Given the description of an element on the screen output the (x, y) to click on. 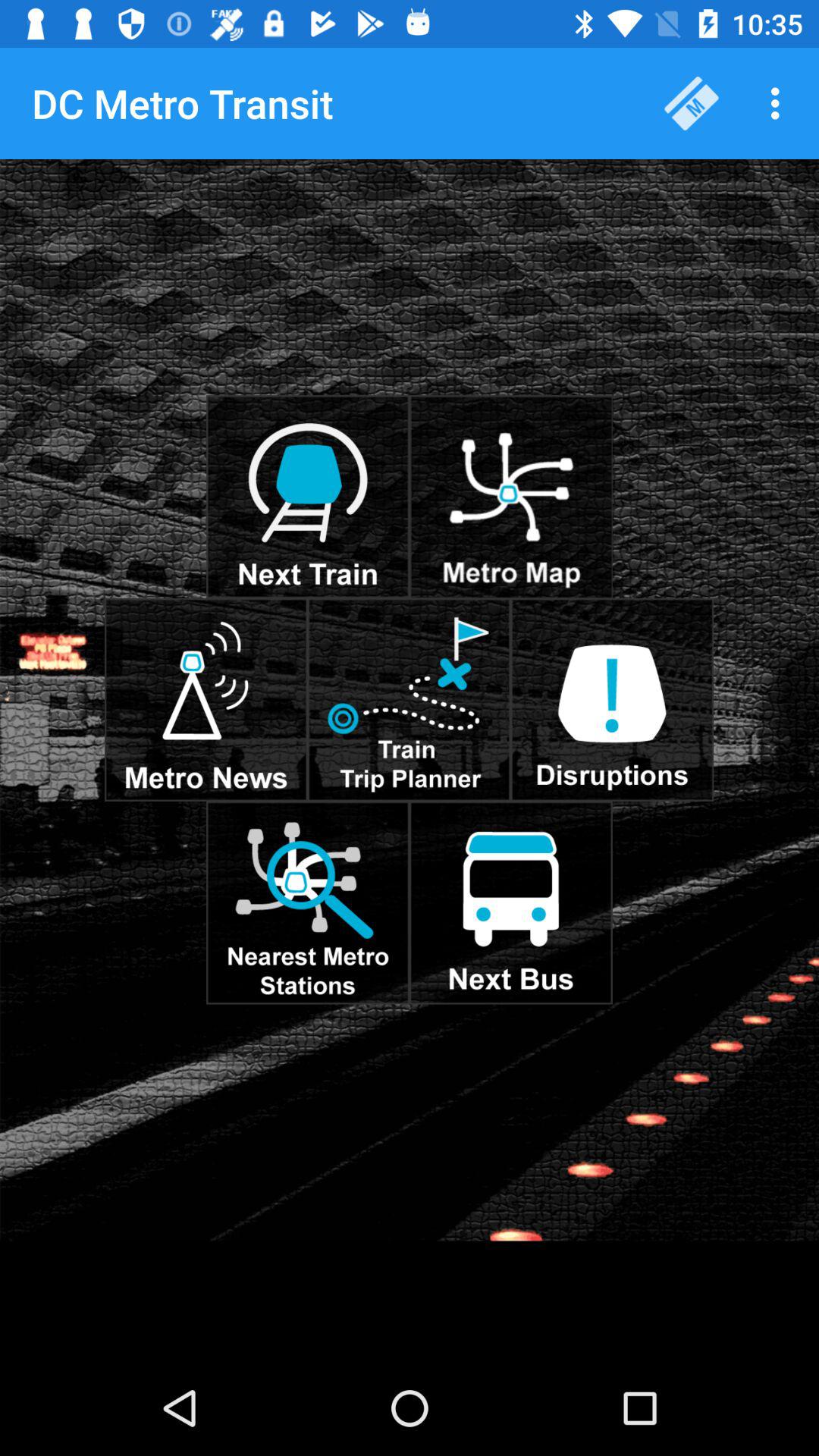
launch the item to the right of the dc metro transit item (691, 103)
